Given the description of an element on the screen output the (x, y) to click on. 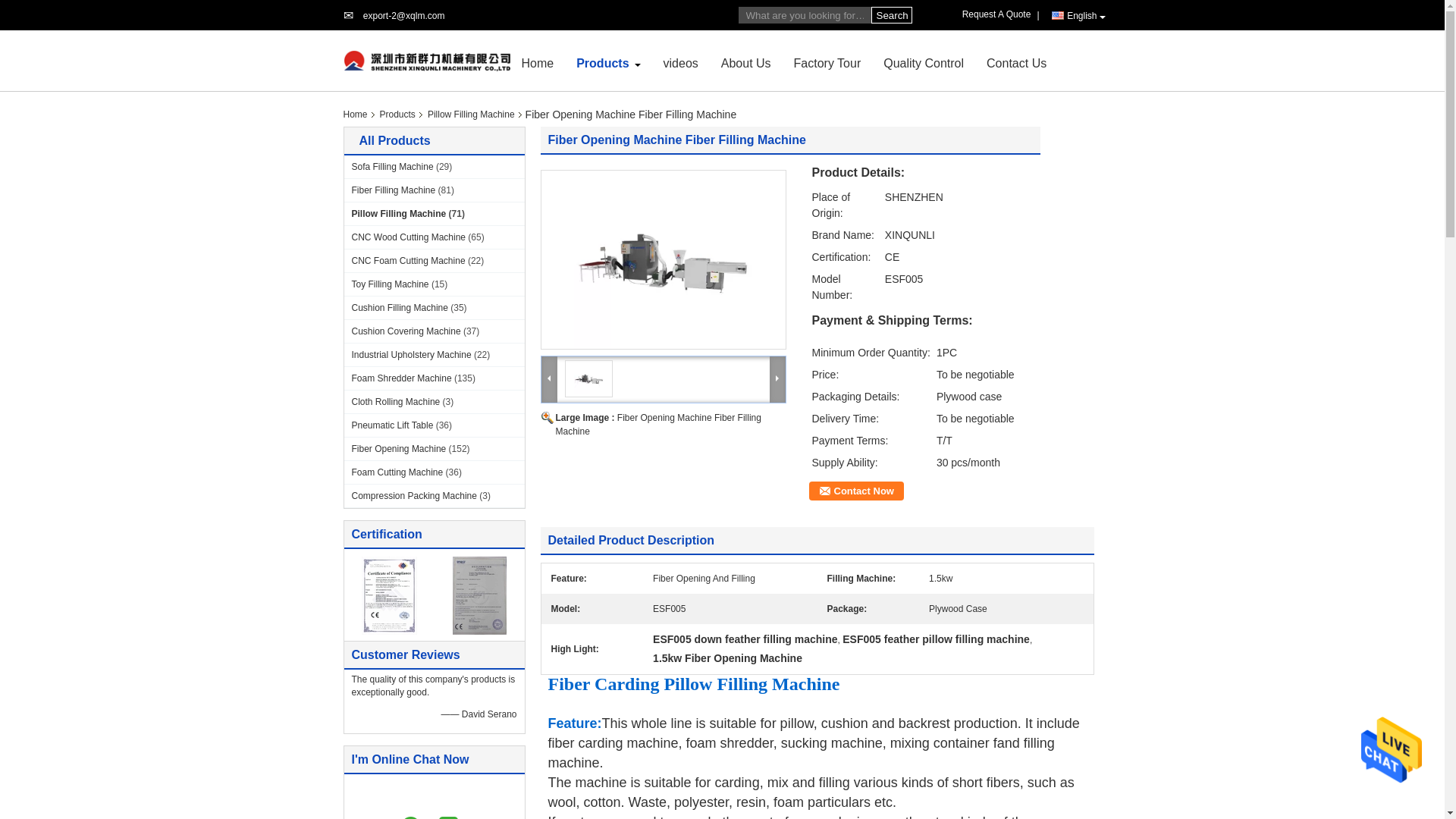
Products (602, 62)
Shenzhen Xinqunli Machinery Co., Ltd. (425, 59)
Shenzhen Xinqunli Machinery Co., Ltd. (602, 62)
Shenzhen Xinqunli Machinery Co., Ltd. (537, 62)
Search (890, 14)
Quote (999, 14)
Home (537, 62)
Shenzhen Xinqunli Machinery Co., Ltd. (403, 15)
Request A Quote (999, 14)
English (1078, 15)
